Given the description of an element on the screen output the (x, y) to click on. 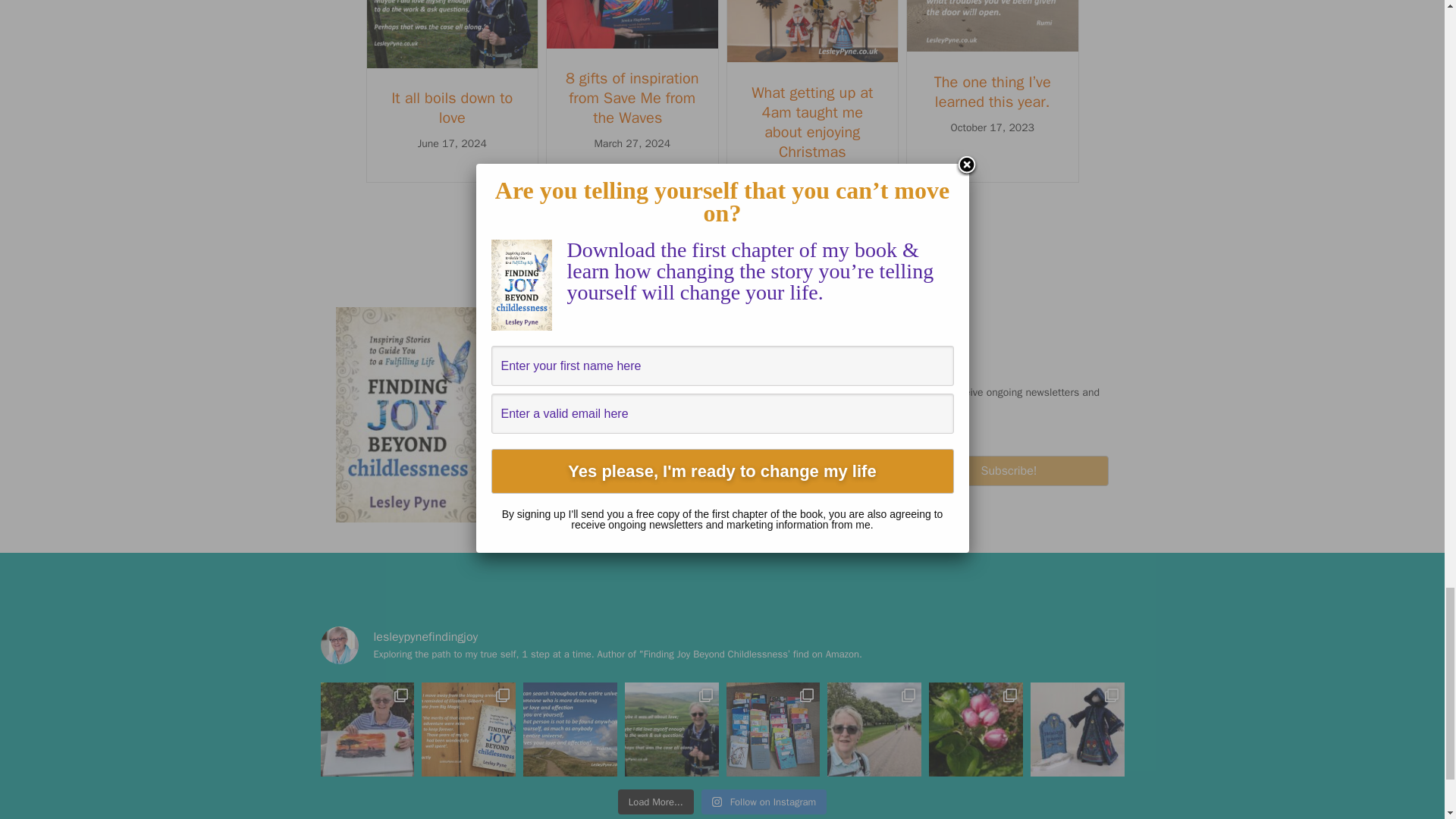
What getting up at 4am taught me about enjoying Christmas (811, 122)
8 gifts of inspiration from Save Me from the Waves   (632, 97)
It all boils down to love (451, 107)
It all boils down to love (452, 64)
What getting up at 4am taught me about enjoying Christmas (812, 57)
What getting up at 4am taught me about enjoying Christmas (811, 122)
It all boils down to love (451, 107)
